Given the description of an element on the screen output the (x, y) to click on. 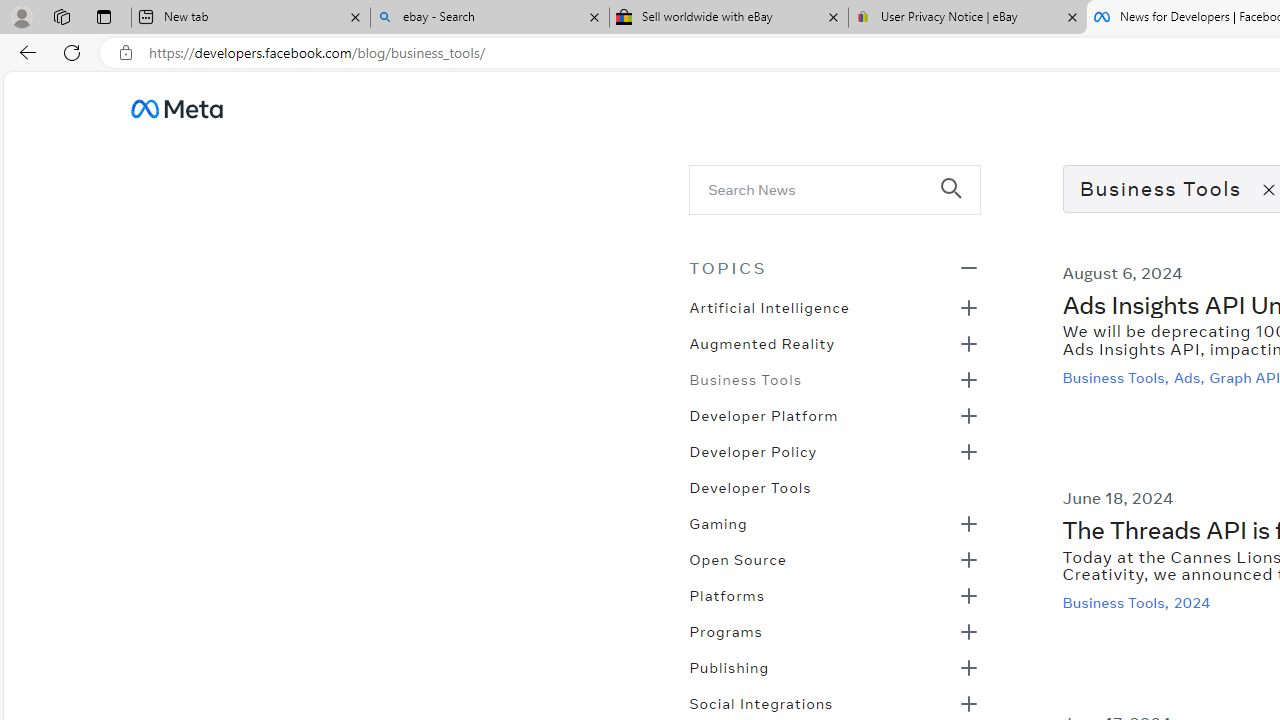
Business Tools (745, 377)
Augmented Reality (761, 341)
Open Source (737, 557)
Social Integrations (761, 701)
User Privacy Notice | eBay (967, 17)
Developer Policy (752, 449)
Class: _9890 _98ey (834, 267)
2024 (1194, 602)
Publishing (729, 665)
Ads, (1190, 377)
Class: _98ex (834, 493)
Class: _98ex _98ez (834, 673)
